Given the description of an element on the screen output the (x, y) to click on. 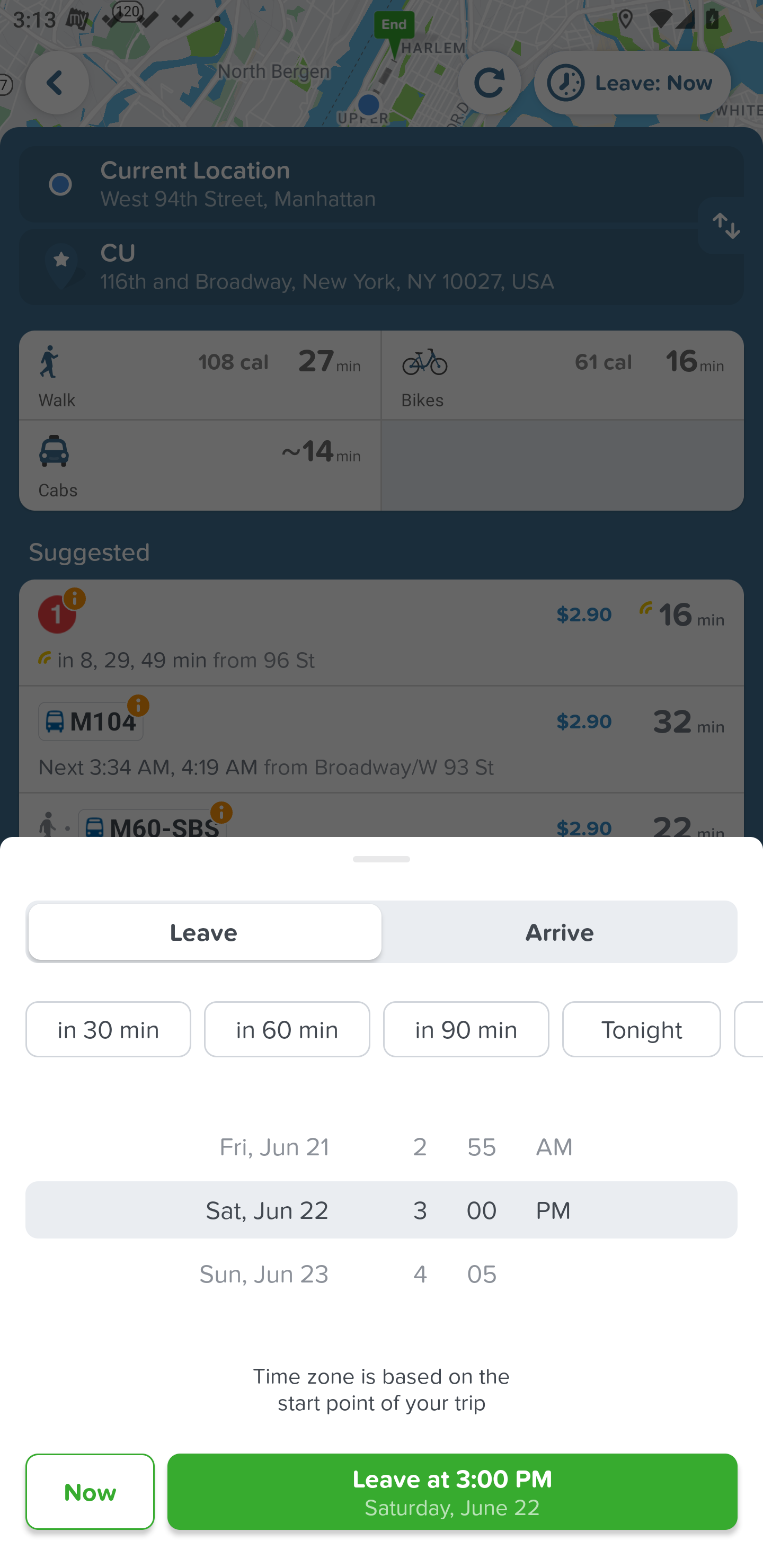
Leave at 3:00 PM Saturday, June 22 (452, 1491)
